Given the description of an element on the screen output the (x, y) to click on. 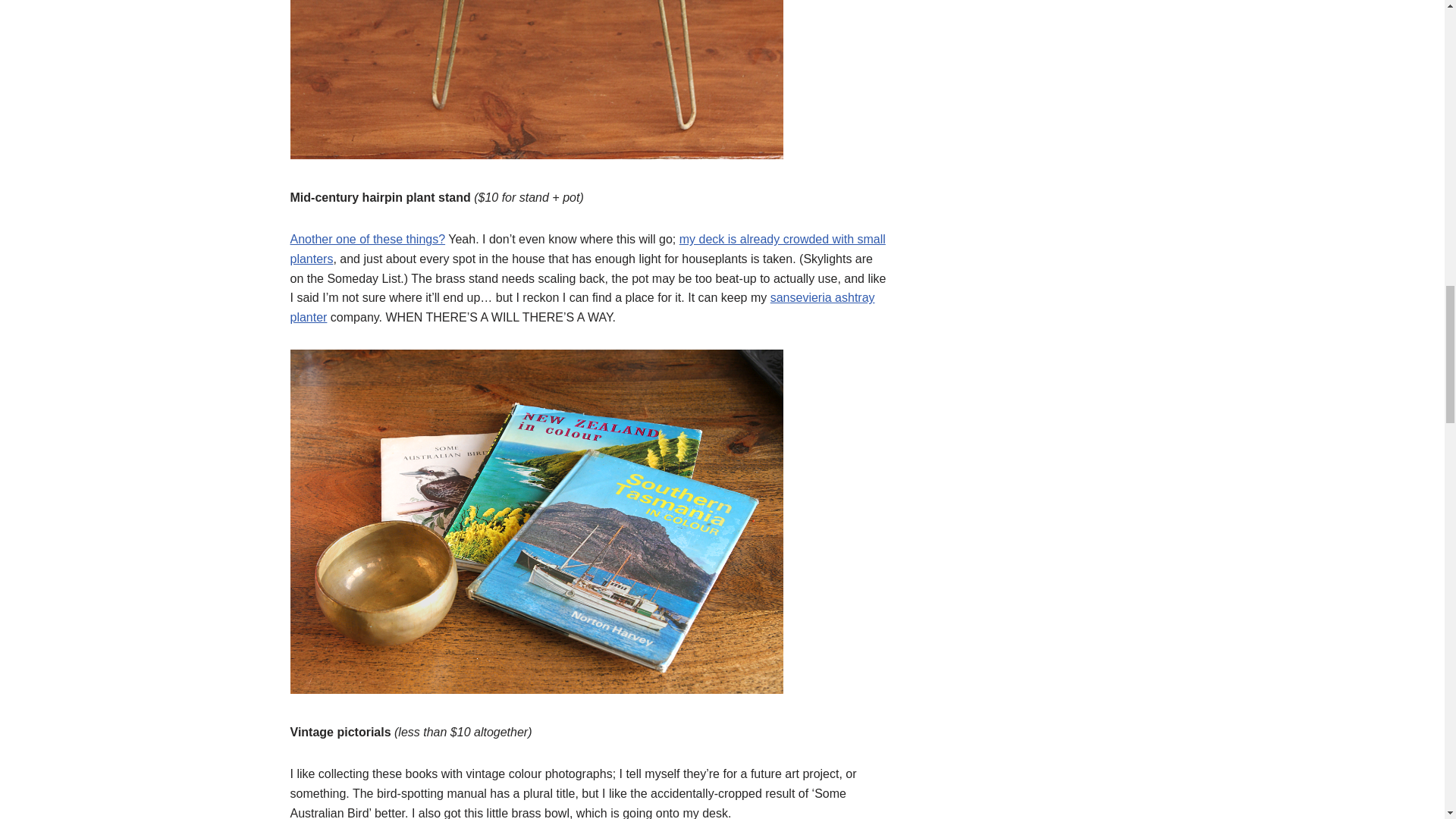
sansevieria ashtray planter (582, 307)
my deck is already crowded with small planters (587, 248)
Another one of these things? (367, 238)
